Given the description of an element on the screen output the (x, y) to click on. 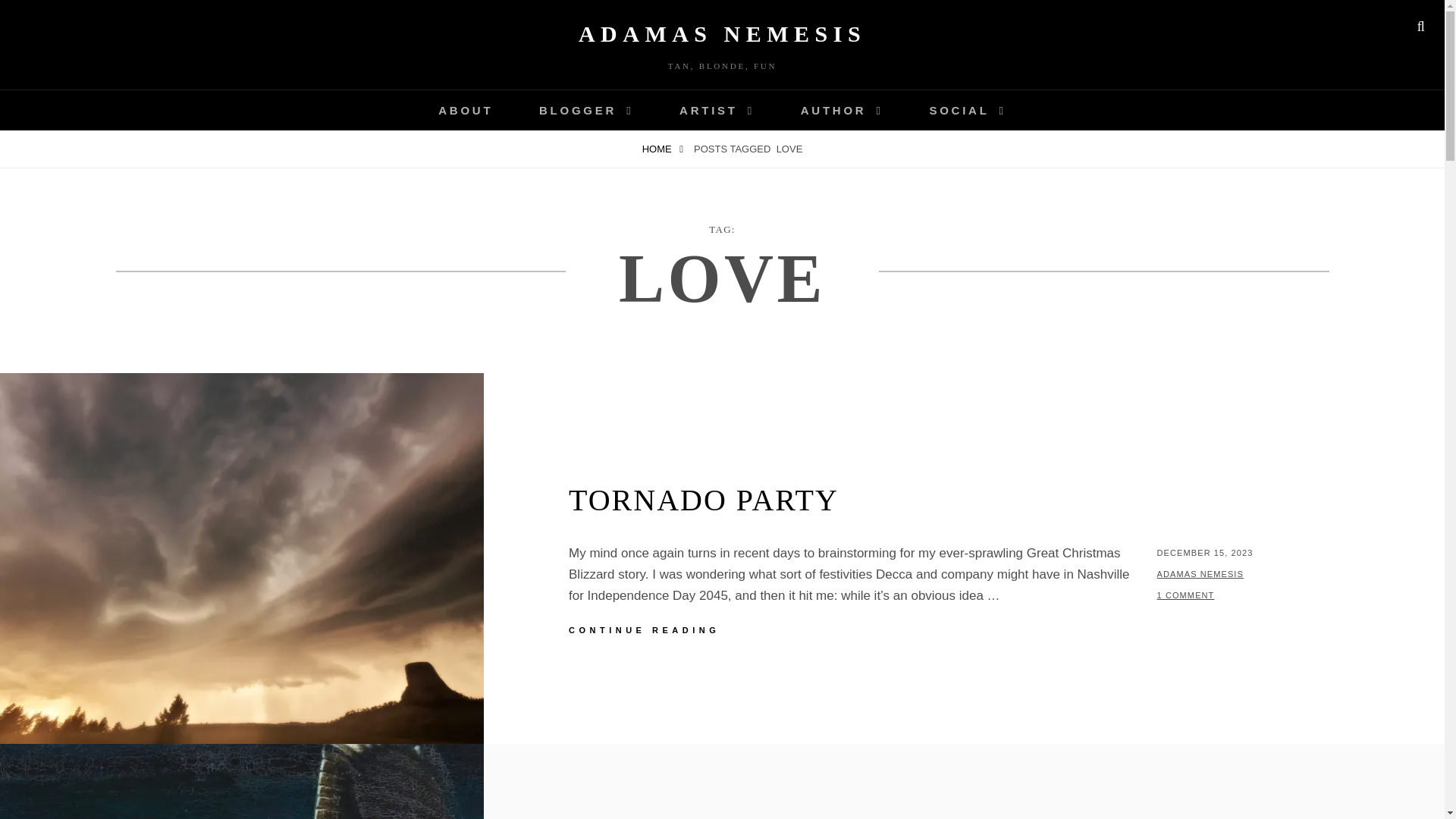
ABOUT (464, 110)
ADAMAS NEMESIS (722, 33)
BLOGGER (585, 110)
